Given the description of an element on the screen output the (x, y) to click on. 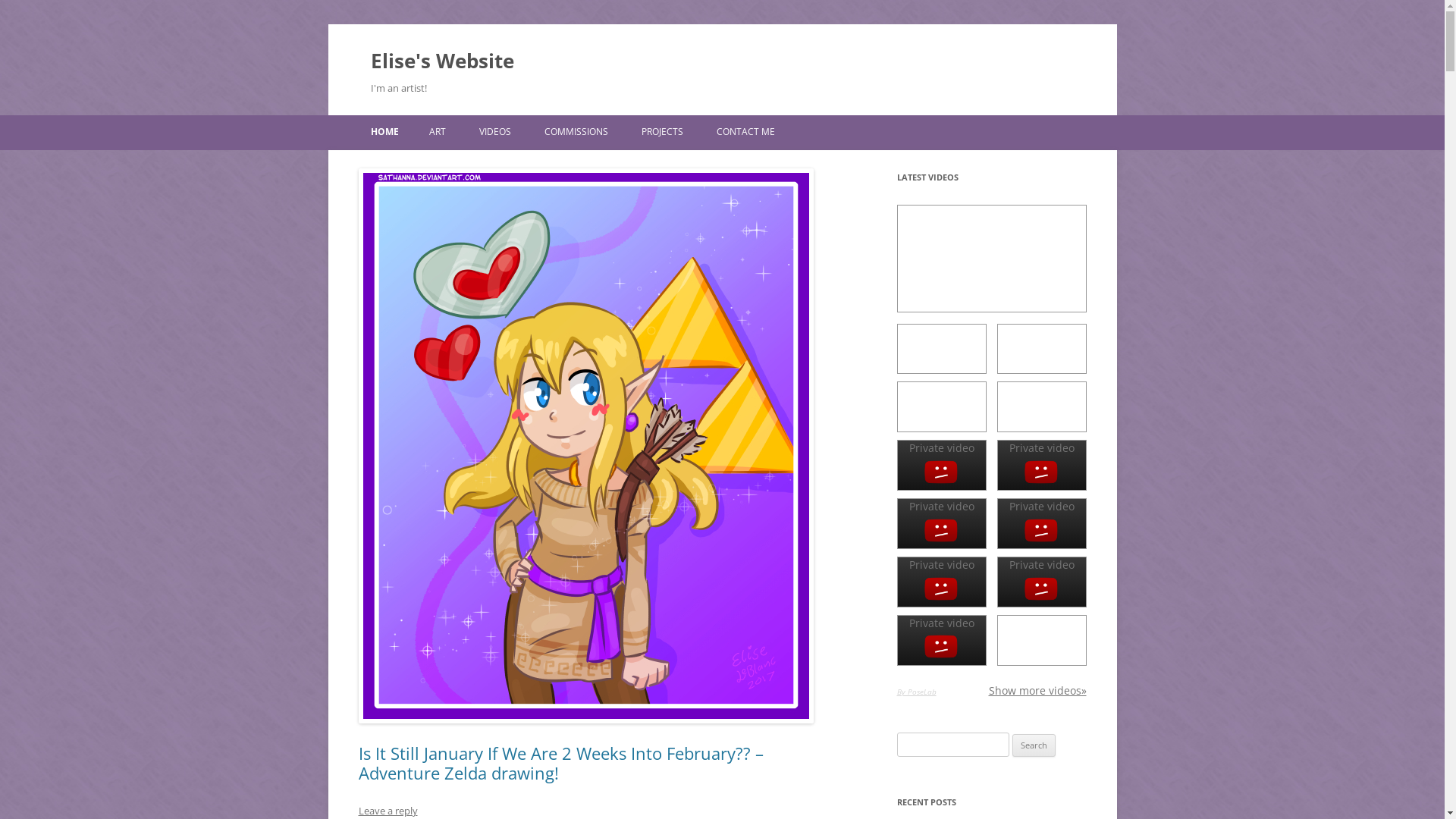
Skip to content Element type: text (781, 120)
ART Element type: text (437, 131)
Elise's Website Element type: text (441, 60)
Private video Element type: text (1040, 464)
Drawing Fist Of The Coder - WATAAH! + animation! Element type: hover (940, 348)
Private video Element type: text (940, 581)
PROJECTS Element type: text (662, 131)
HOME Element type: text (384, 131)
Leave a reply Element type: text (387, 810)
By PoseLab Element type: text (915, 691)
VIDEOS Element type: text (495, 131)
Drawing Slime Rancher - Valentines Special! + ANIMATION! Element type: hover (1040, 348)
Drawing Game Grumps: A Link To The Danny Bunny Element type: hover (1040, 640)
Private video Element type: text (940, 464)
Private video Element type: text (940, 640)
Drawing UNDERTALE - Bratty and Catty~! Element type: hover (1040, 406)
Private video Element type: text (940, 523)
Private video Element type: text (1040, 581)
Private video Element type: text (1040, 523)
CONTACT ME Element type: text (744, 131)
COMMISSIONS Element type: text (576, 131)
Drawing TECHNICAL DIFFICULTIES Element type: hover (940, 406)
Search Element type: text (1033, 745)
